Given the description of an element on the screen output the (x, y) to click on. 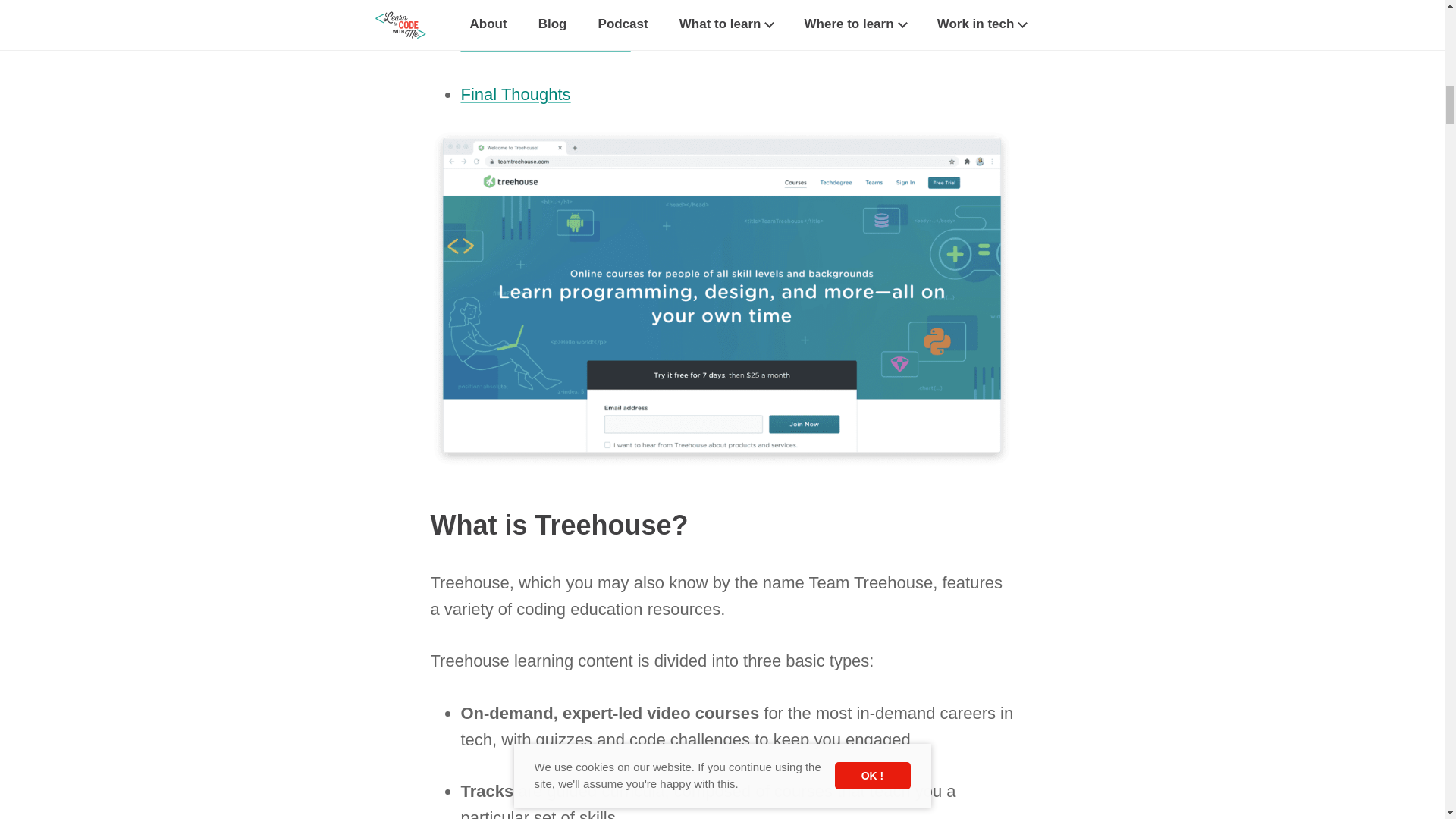
Team Treehouse - Homepage (721, 458)
